Given the description of an element on the screen output the (x, y) to click on. 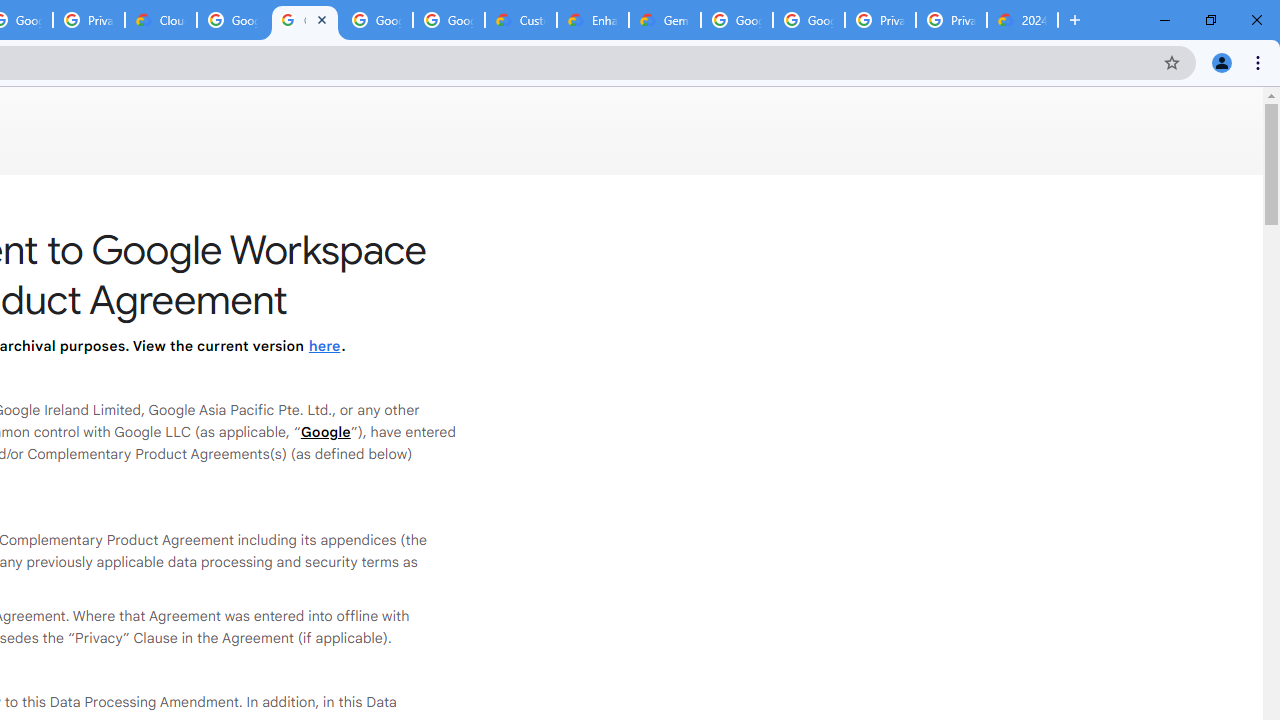
Cloud Data Processing Addendum | Google Cloud (161, 20)
Customer Care | Google Cloud (520, 20)
Gemini for Business and Developers | Google Cloud (664, 20)
